Given the description of an element on the screen output the (x, y) to click on. 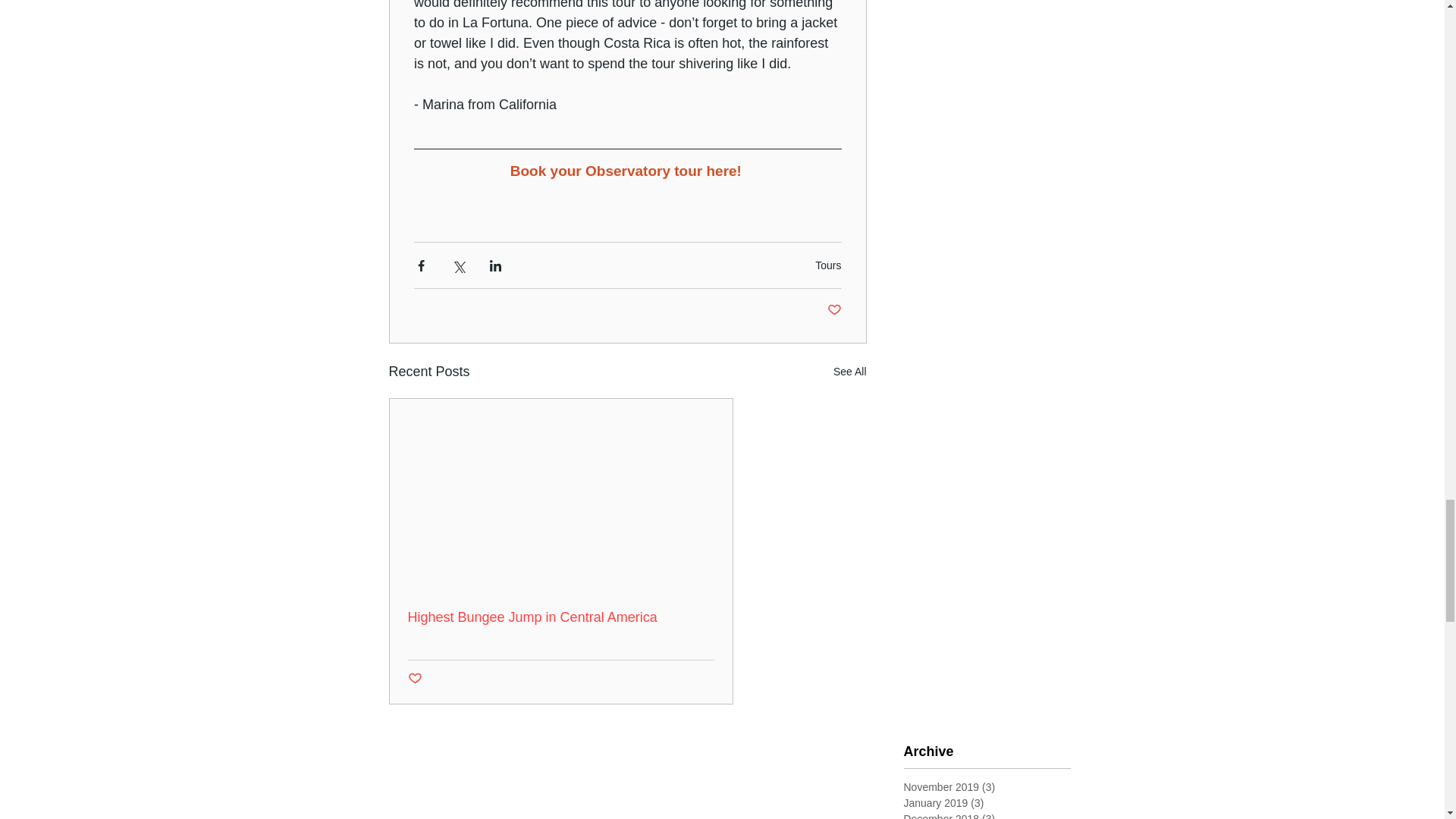
Highest Bungee Jump in Central America (560, 617)
Post not marked as liked (414, 678)
See All (849, 372)
Tours (828, 265)
Post not marked as liked (834, 310)
Book your Observatory tour here! (625, 170)
